Given the description of an element on the screen output the (x, y) to click on. 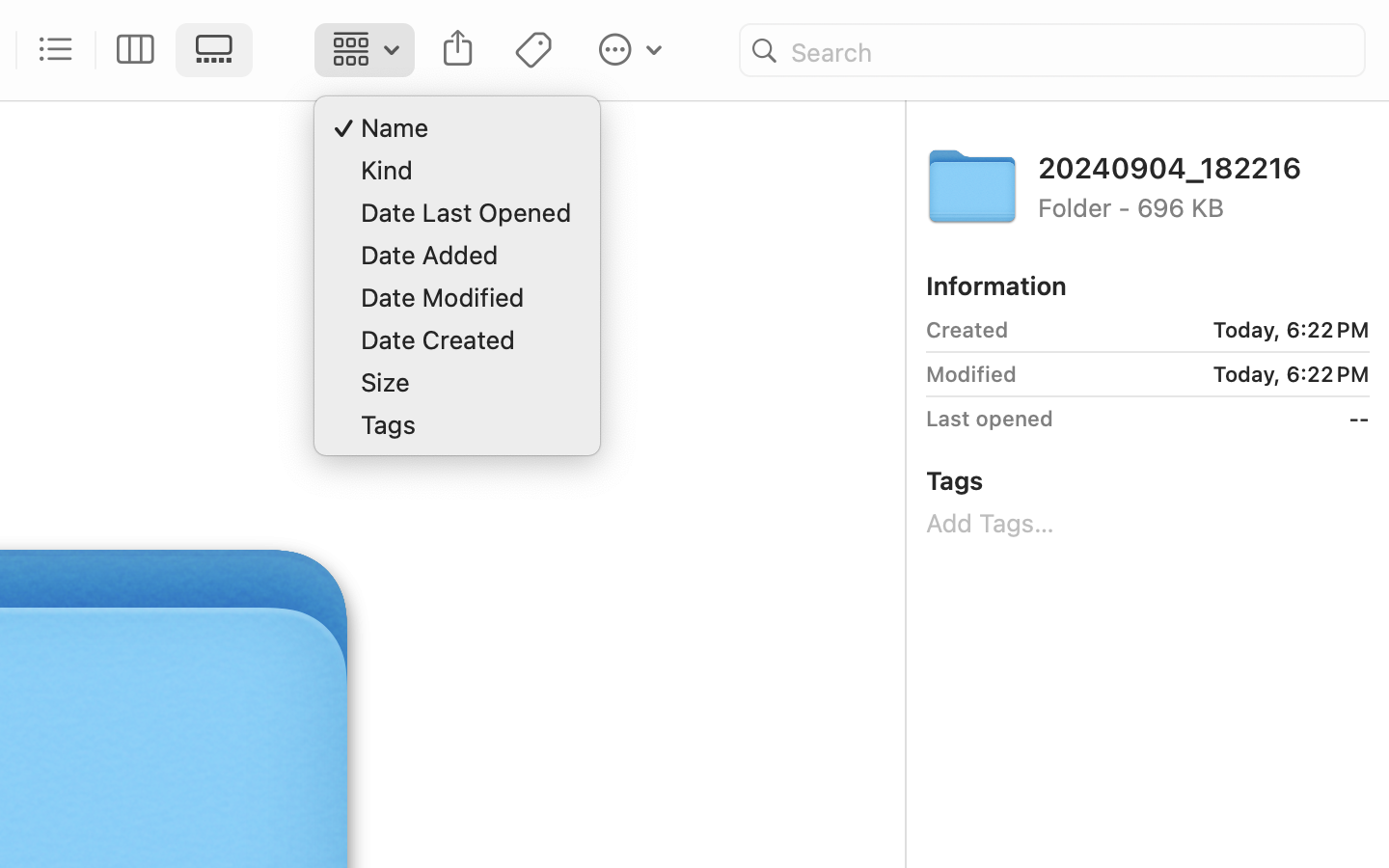
Last opened Element type: AXStaticText (989, 418)
1 Element type: AXRadioButton (219, 49)
Tags Element type: AXStaticText (954, 479)
Created Element type: AXStaticText (967, 329)
20240904_182216 Element type: AXStaticText (1203, 165)
